Given the description of an element on the screen output the (x, y) to click on. 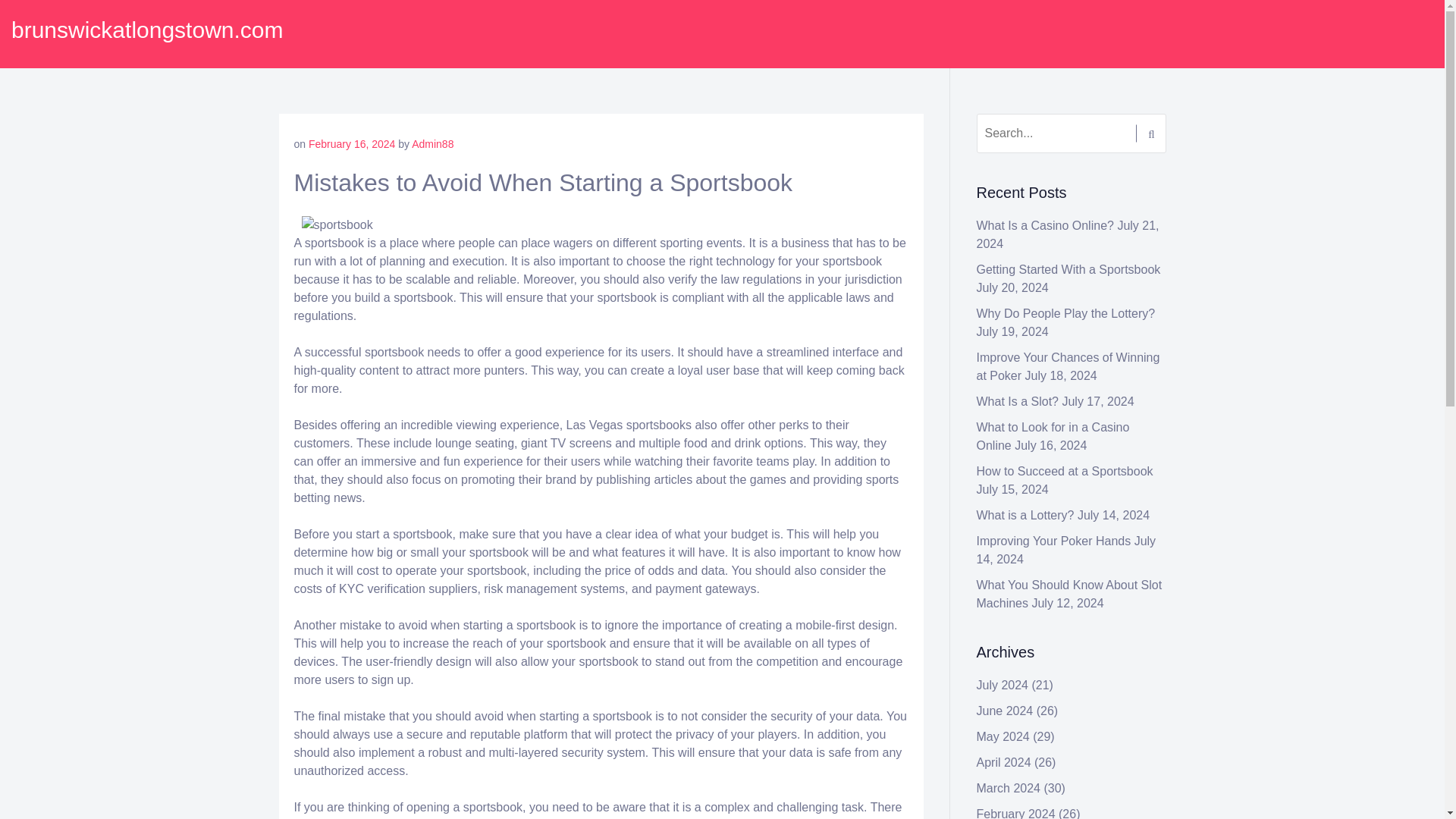
February 16, 2024 (351, 143)
July 2024 (1002, 684)
Admin88 (432, 143)
April 2024 (1003, 762)
What is a Lottery? (1025, 514)
June 2024 (1004, 710)
How to Succeed at a Sportsbook (1064, 471)
Why Do People Play the Lottery? (1066, 313)
February 2024 (1015, 813)
What to Look for in a Casino Online (1052, 436)
Improving Your Poker Hands (1053, 540)
March 2024 (1008, 788)
Getting Started With a Sportsbook (1068, 269)
brunswickatlongstown.com (147, 29)
What Is a Casino Online? (1044, 225)
